Given the description of an element on the screen output the (x, y) to click on. 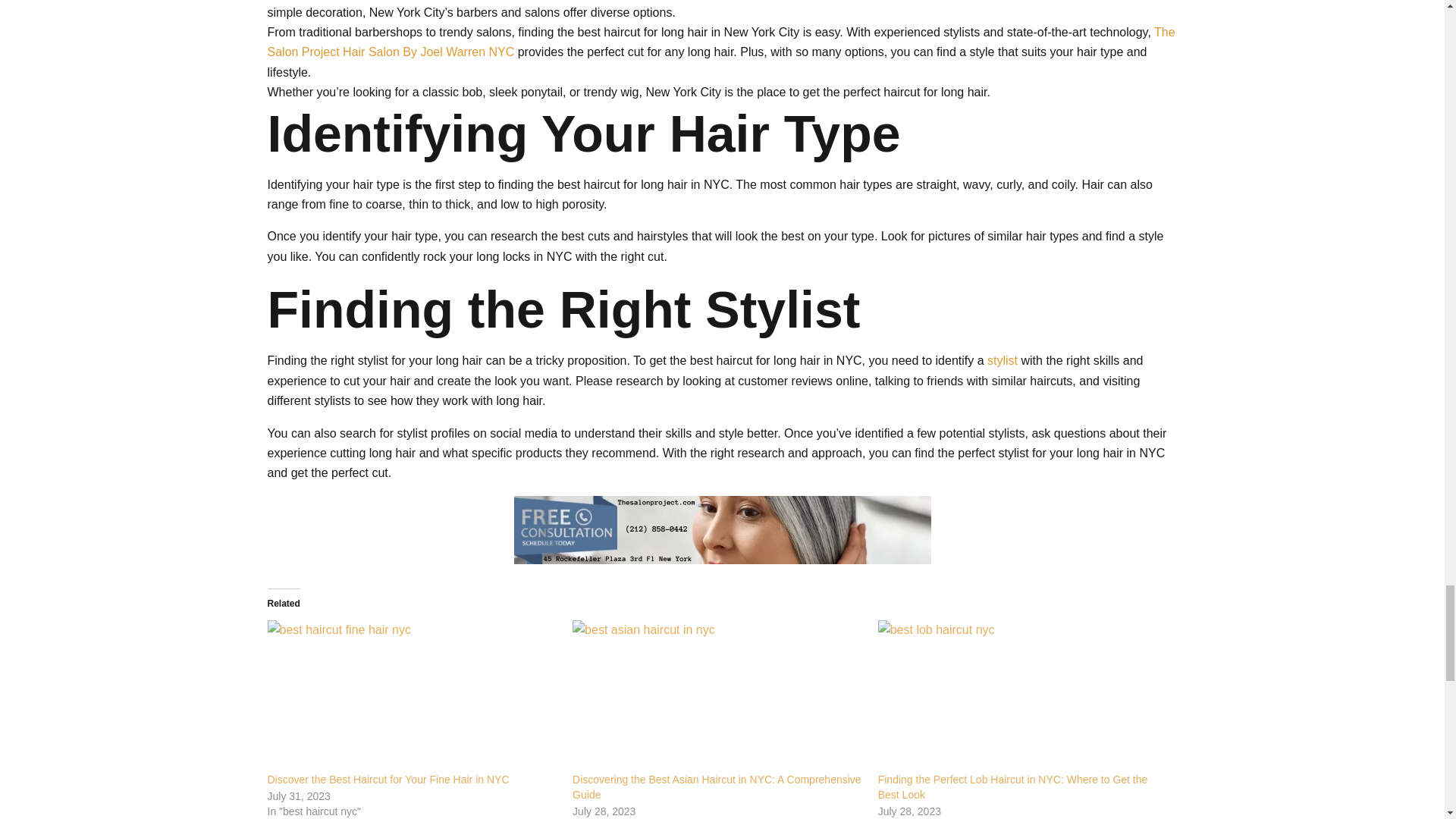
stylist (1002, 359)
Discover the Best Haircut for Your Fine Hair in NYC (387, 779)
The Salon Project Hair Salon By Joel Warren NYC (720, 41)
Discover the Best Haircut for Your Fine Hair in NYC (387, 779)
Discover the Best Haircut for Your Fine Hair in NYC (411, 695)
